Given the description of an element on the screen output the (x, y) to click on. 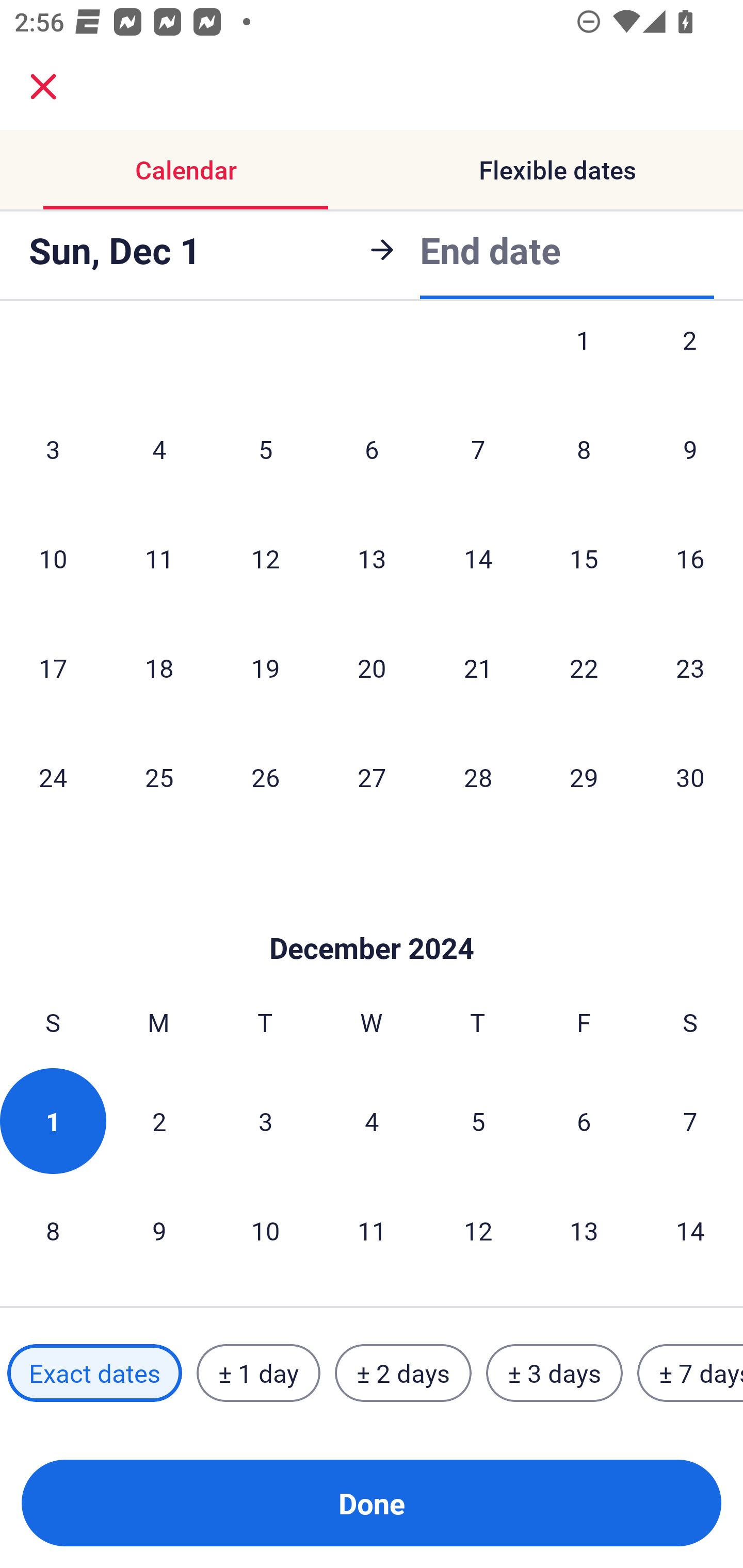
close. (43, 86)
Flexible dates (557, 170)
End date (489, 249)
1 Friday, November 1, 2024 (583, 361)
2 Saturday, November 2, 2024 (689, 361)
3 Sunday, November 3, 2024 (53, 448)
4 Monday, November 4, 2024 (159, 448)
5 Tuesday, November 5, 2024 (265, 448)
6 Wednesday, November 6, 2024 (371, 448)
7 Thursday, November 7, 2024 (477, 448)
8 Friday, November 8, 2024 (584, 448)
9 Saturday, November 9, 2024 (690, 448)
10 Sunday, November 10, 2024 (53, 557)
11 Monday, November 11, 2024 (159, 557)
12 Tuesday, November 12, 2024 (265, 557)
13 Wednesday, November 13, 2024 (371, 557)
14 Thursday, November 14, 2024 (477, 557)
15 Friday, November 15, 2024 (584, 557)
16 Saturday, November 16, 2024 (690, 557)
17 Sunday, November 17, 2024 (53, 667)
18 Monday, November 18, 2024 (159, 667)
19 Tuesday, November 19, 2024 (265, 667)
20 Wednesday, November 20, 2024 (371, 667)
21 Thursday, November 21, 2024 (477, 667)
22 Friday, November 22, 2024 (584, 667)
23 Saturday, November 23, 2024 (690, 667)
24 Sunday, November 24, 2024 (53, 776)
25 Monday, November 25, 2024 (159, 776)
26 Tuesday, November 26, 2024 (265, 776)
27 Wednesday, November 27, 2024 (371, 776)
28 Thursday, November 28, 2024 (477, 776)
29 Friday, November 29, 2024 (584, 776)
30 Saturday, November 30, 2024 (690, 776)
Skip to Done (371, 917)
2 Monday, December 2, 2024 (159, 1120)
3 Tuesday, December 3, 2024 (265, 1120)
4 Wednesday, December 4, 2024 (371, 1120)
5 Thursday, December 5, 2024 (477, 1120)
6 Friday, December 6, 2024 (584, 1120)
7 Saturday, December 7, 2024 (690, 1120)
8 Sunday, December 8, 2024 (53, 1229)
9 Monday, December 9, 2024 (159, 1229)
10 Tuesday, December 10, 2024 (265, 1229)
11 Wednesday, December 11, 2024 (371, 1229)
12 Thursday, December 12, 2024 (477, 1229)
13 Friday, December 13, 2024 (584, 1229)
14 Saturday, December 14, 2024 (690, 1229)
Exact dates (94, 1372)
± 1 day (258, 1372)
± 2 days (403, 1372)
± 3 days (553, 1372)
± 7 days (690, 1372)
Done (371, 1502)
